Given the description of an element on the screen output the (x, y) to click on. 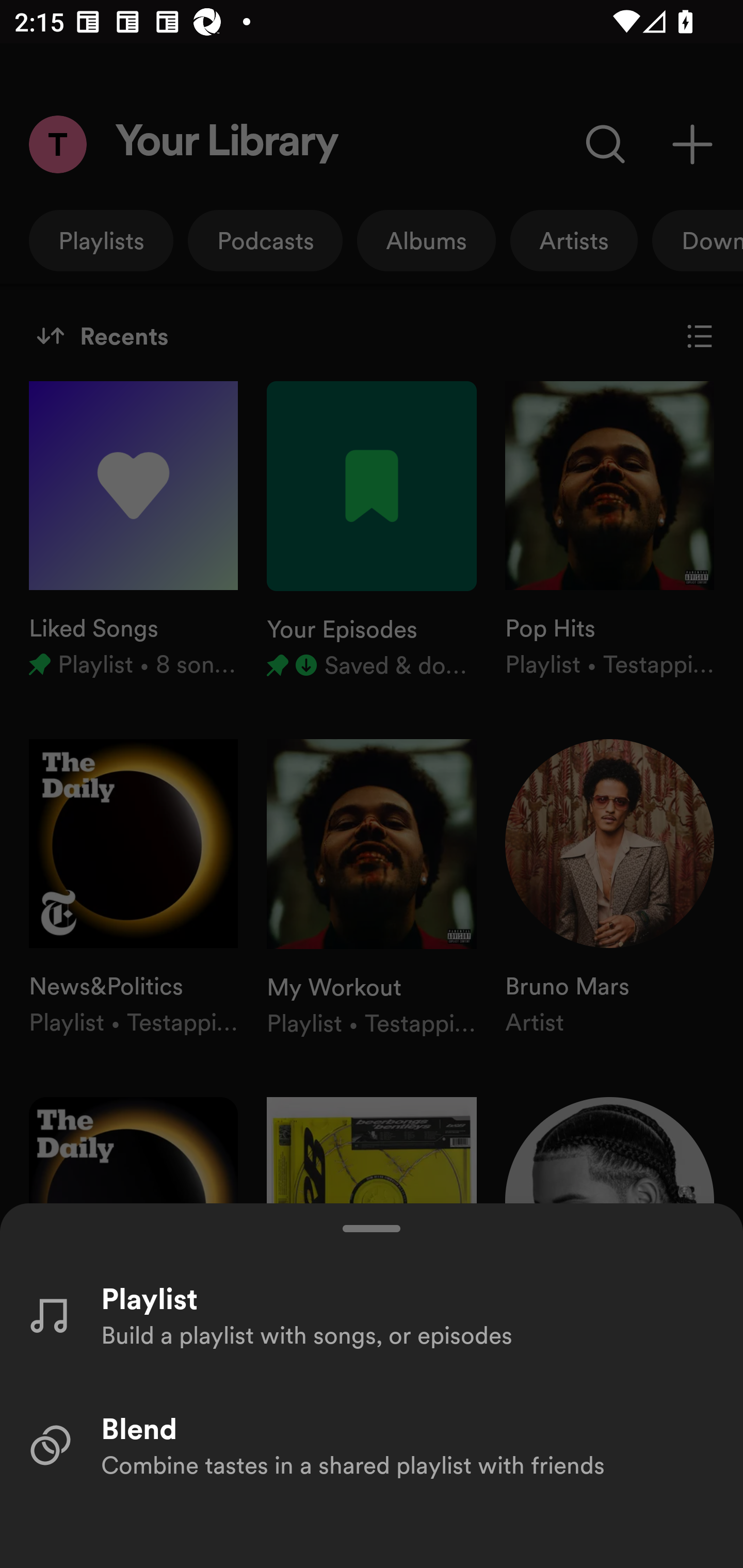
Playlist Build a playlist with songs, or episodes (371, 1314)
